Given the description of an element on the screen output the (x, y) to click on. 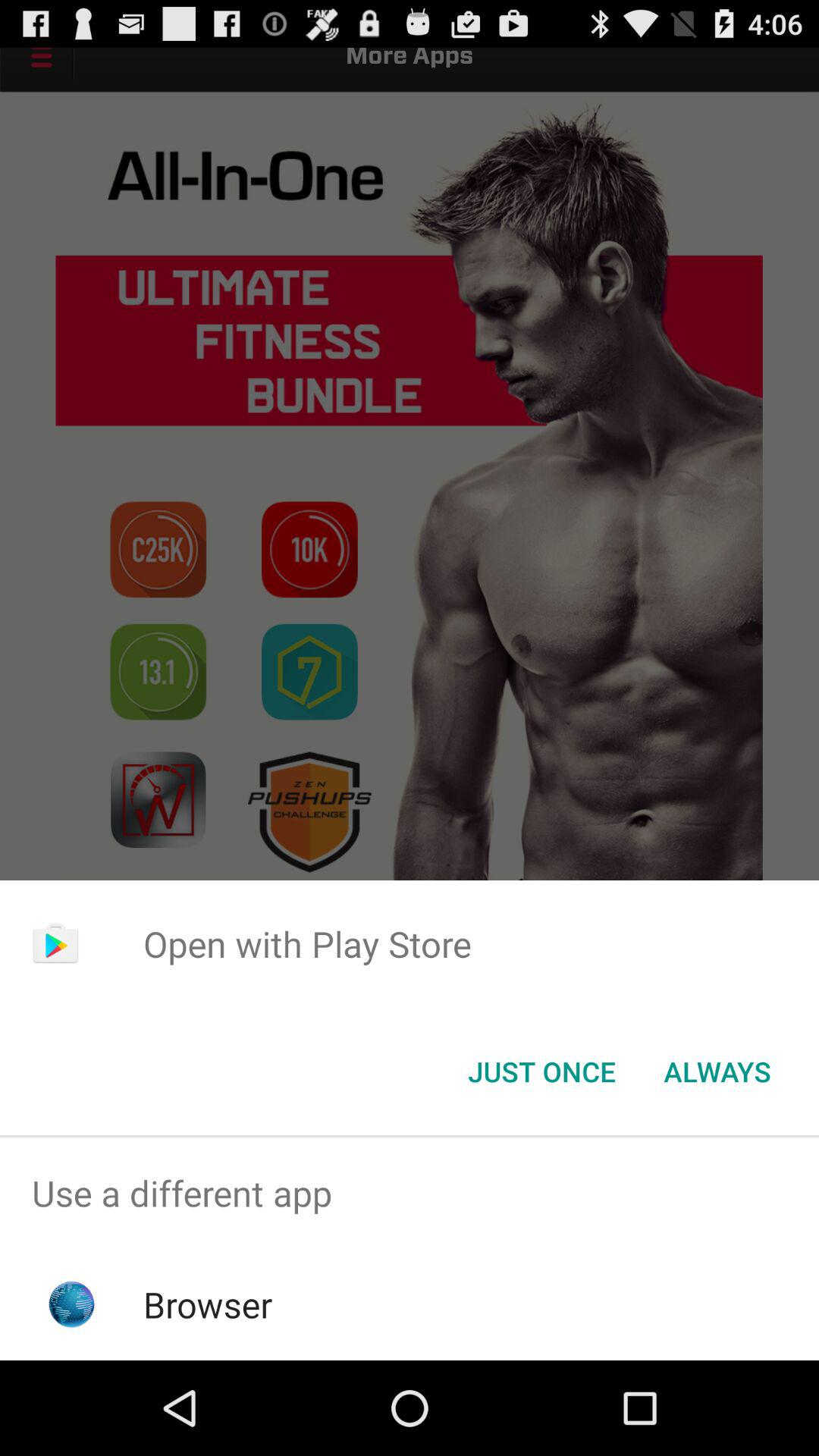
turn on the always (717, 1071)
